Given the description of an element on the screen output the (x, y) to click on. 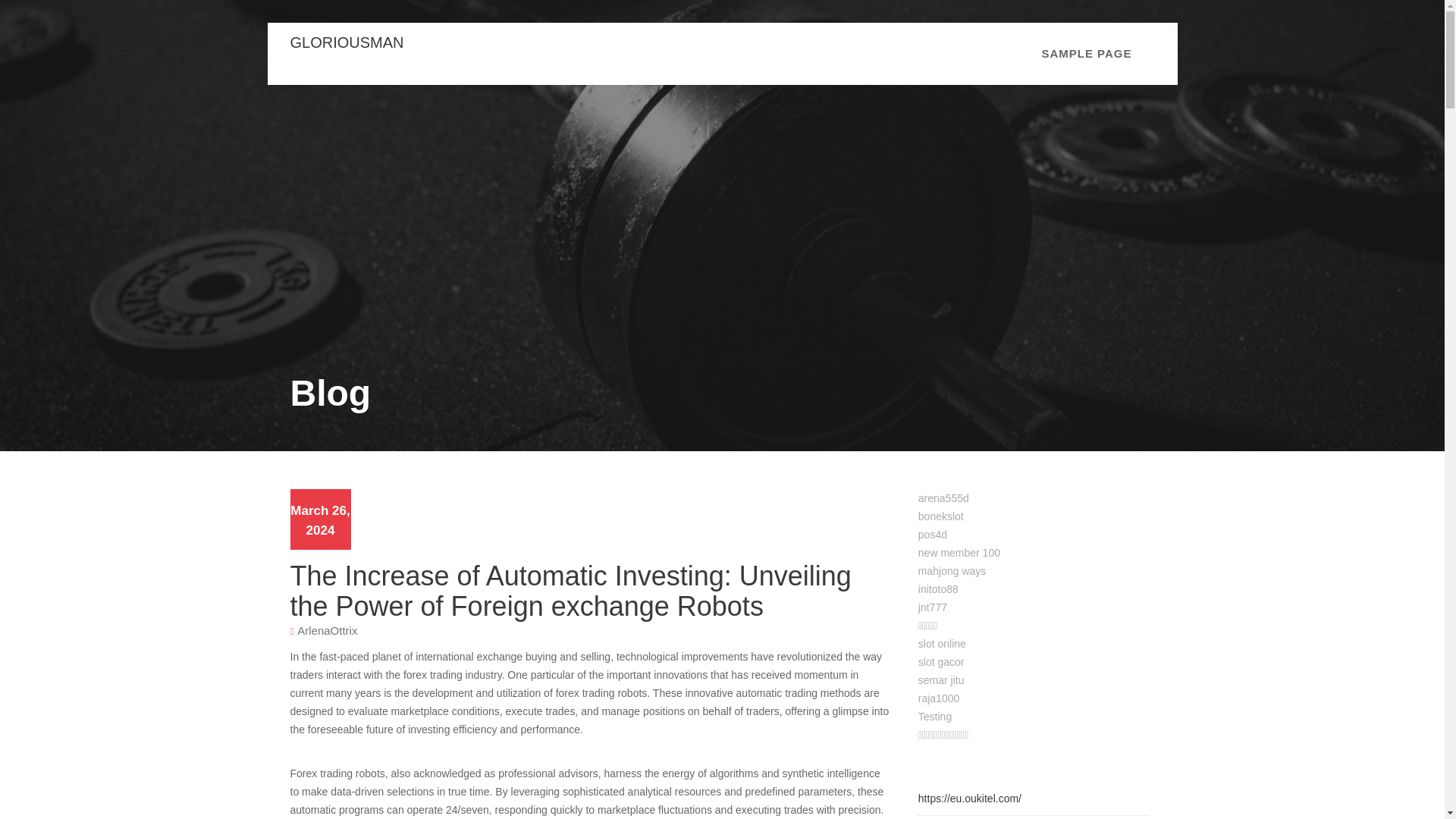
ArlenaOttrix (326, 629)
jnt777 (932, 607)
mahjong ways (952, 571)
SAMPLE PAGE (1085, 53)
pos4d (932, 534)
March 26, 2024 (319, 520)
arena555d (943, 498)
bonekslot (940, 516)
new member 100 (959, 552)
gloriousman (346, 42)
GLORIOUSMAN (346, 42)
raja1000 (938, 698)
slot online (942, 644)
slot gacor (940, 662)
